Given the description of an element on the screen output the (x, y) to click on. 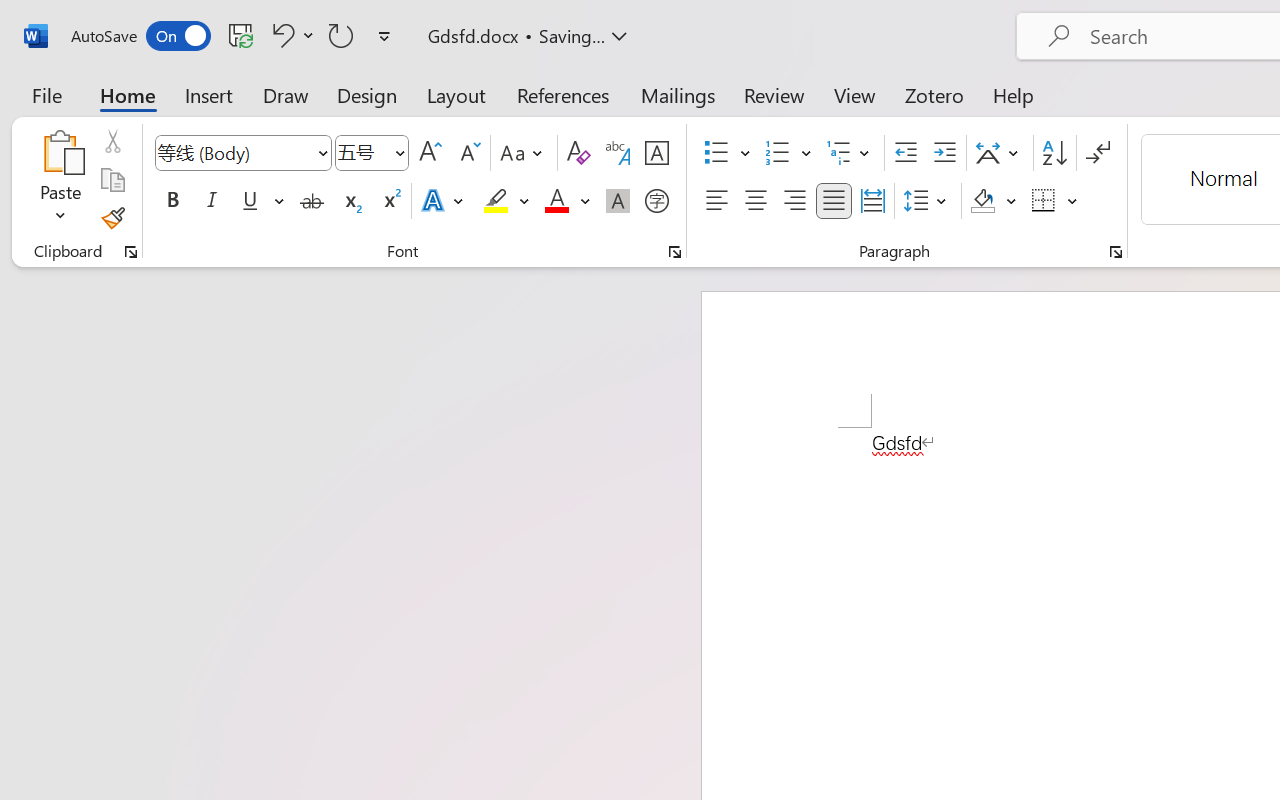
Change Case (524, 153)
Justify (834, 201)
Bold (172, 201)
Copy (112, 179)
Undo Style (290, 35)
Character Shading (618, 201)
